Given the description of an element on the screen output the (x, y) to click on. 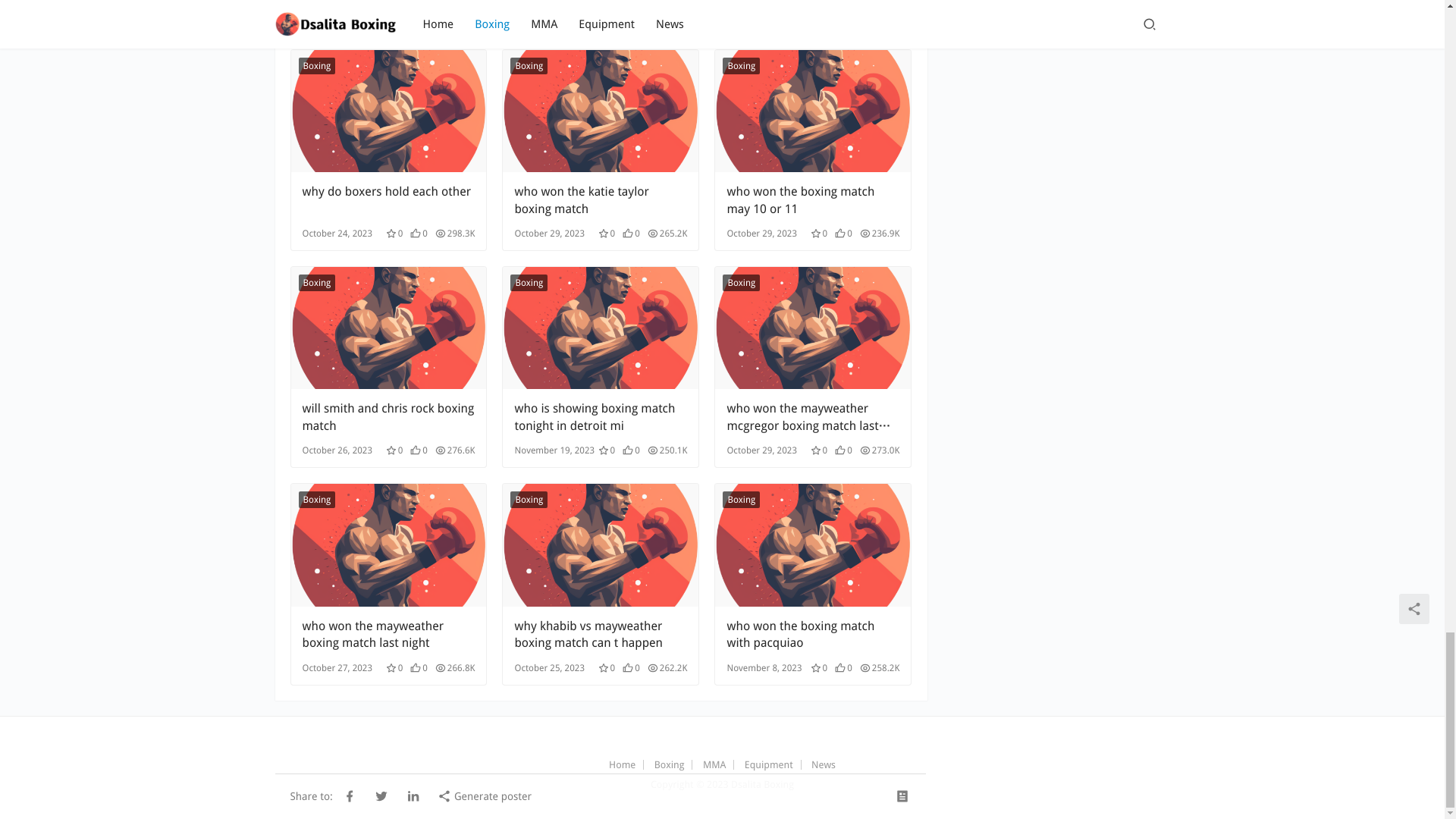
why do boxers hold each other (387, 200)
who won the boxing match may 10 or 11 (812, 200)
Boxing (317, 65)
who won the katie taylor boxing match (600, 200)
who won the boxing match may 10 or 11 (812, 110)
who is showing boxing match tonight in detroit mi (600, 327)
will smith and chris rock boxing match (388, 327)
Boxing (741, 65)
who won the boxing match may 10 or 11 (812, 200)
why do boxers hold each other (388, 110)
